Given the description of an element on the screen output the (x, y) to click on. 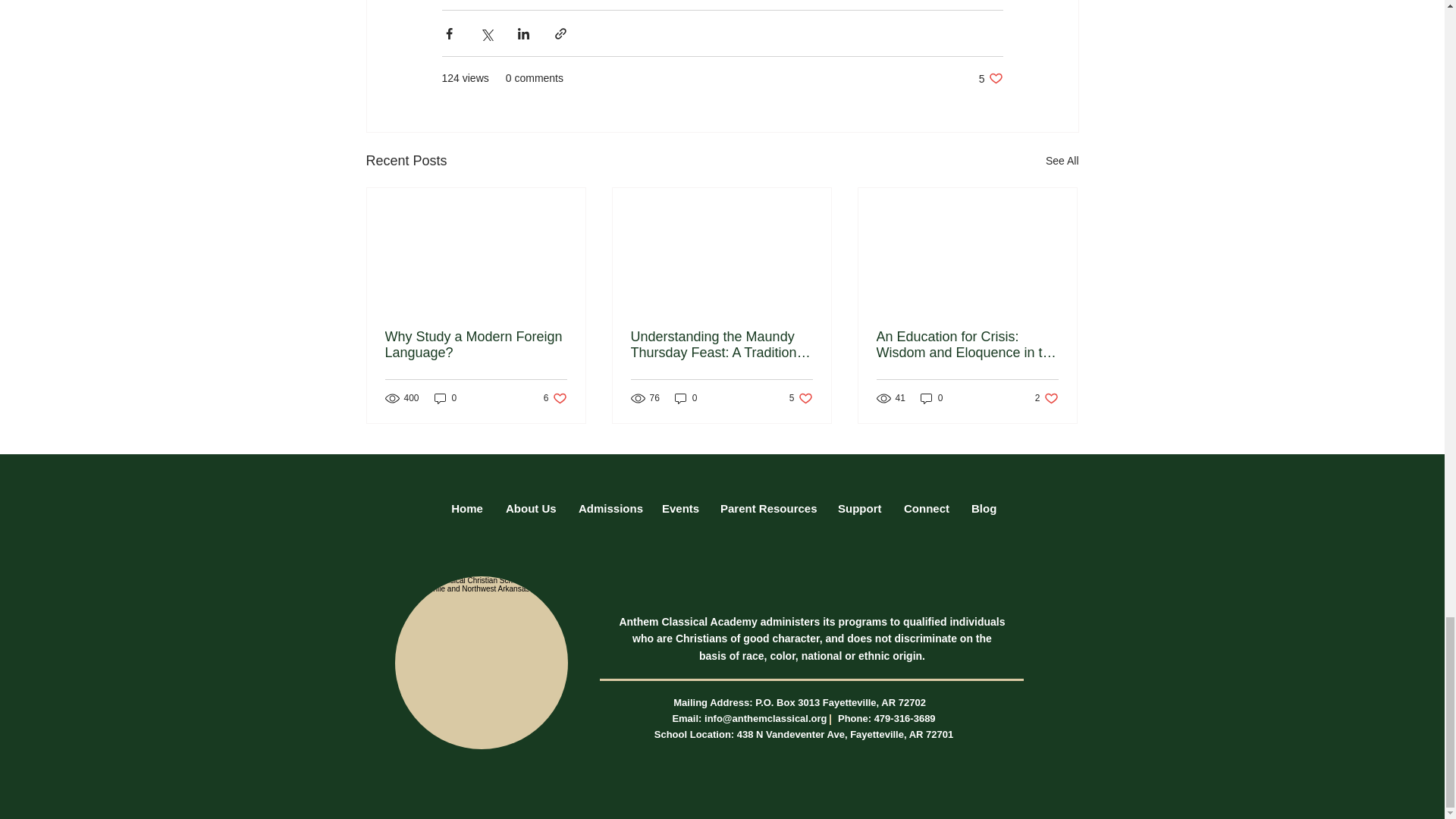
See All (555, 398)
Why Study a Modern Foreign Language? (990, 78)
Home (1061, 160)
Admissions (476, 345)
0 (467, 508)
About Us (800, 398)
